Given the description of an element on the screen output the (x, y) to click on. 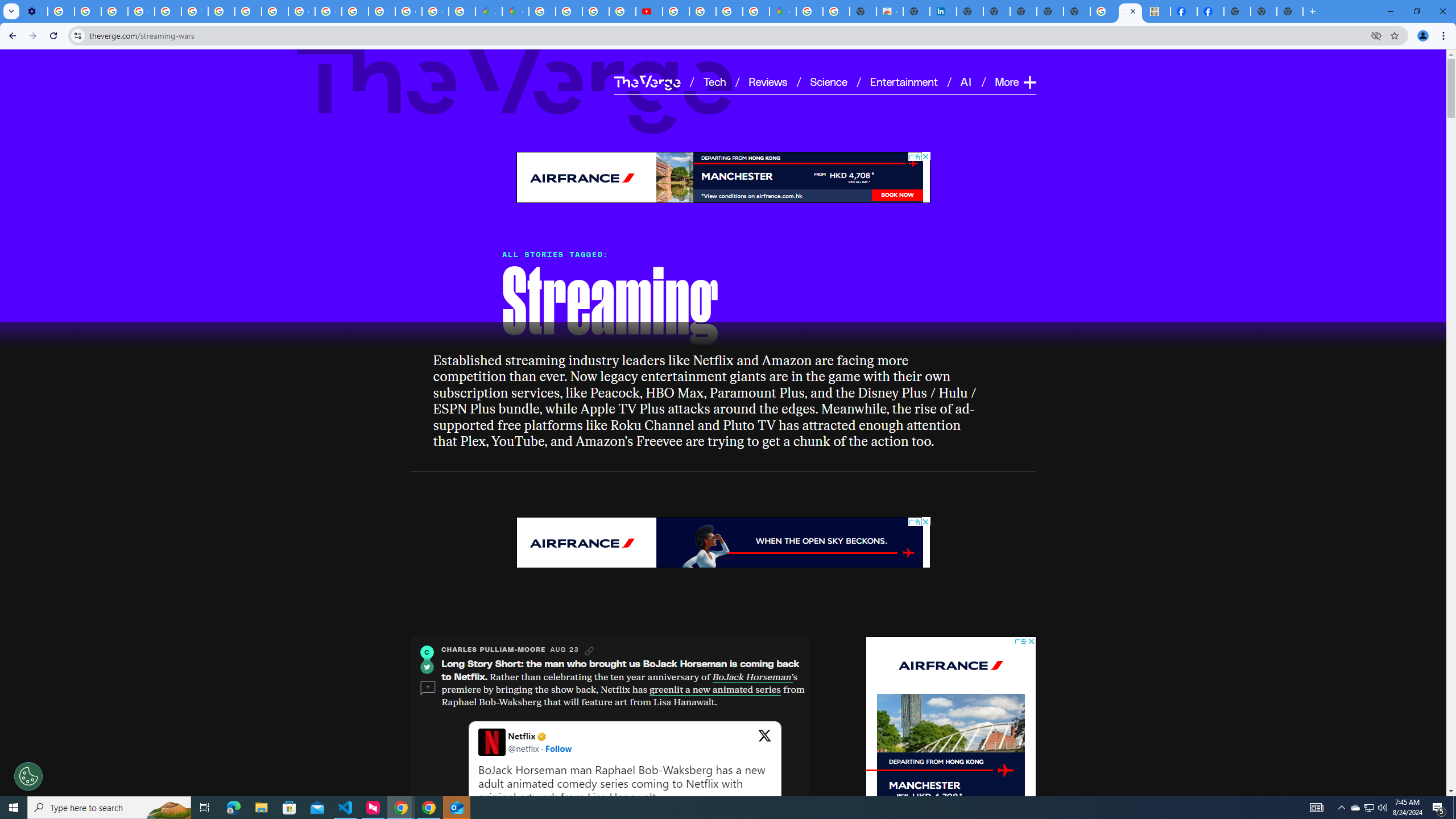
CHARLES PULLIAM-MOORE (493, 649)
Google Maps (782, 11)
Reviews (767, 81)
Netflix Verified account (540, 735)
Verified account (541, 736)
The Verge (646, 82)
Open Preferences (28, 776)
